Given the description of an element on the screen output the (x, y) to click on. 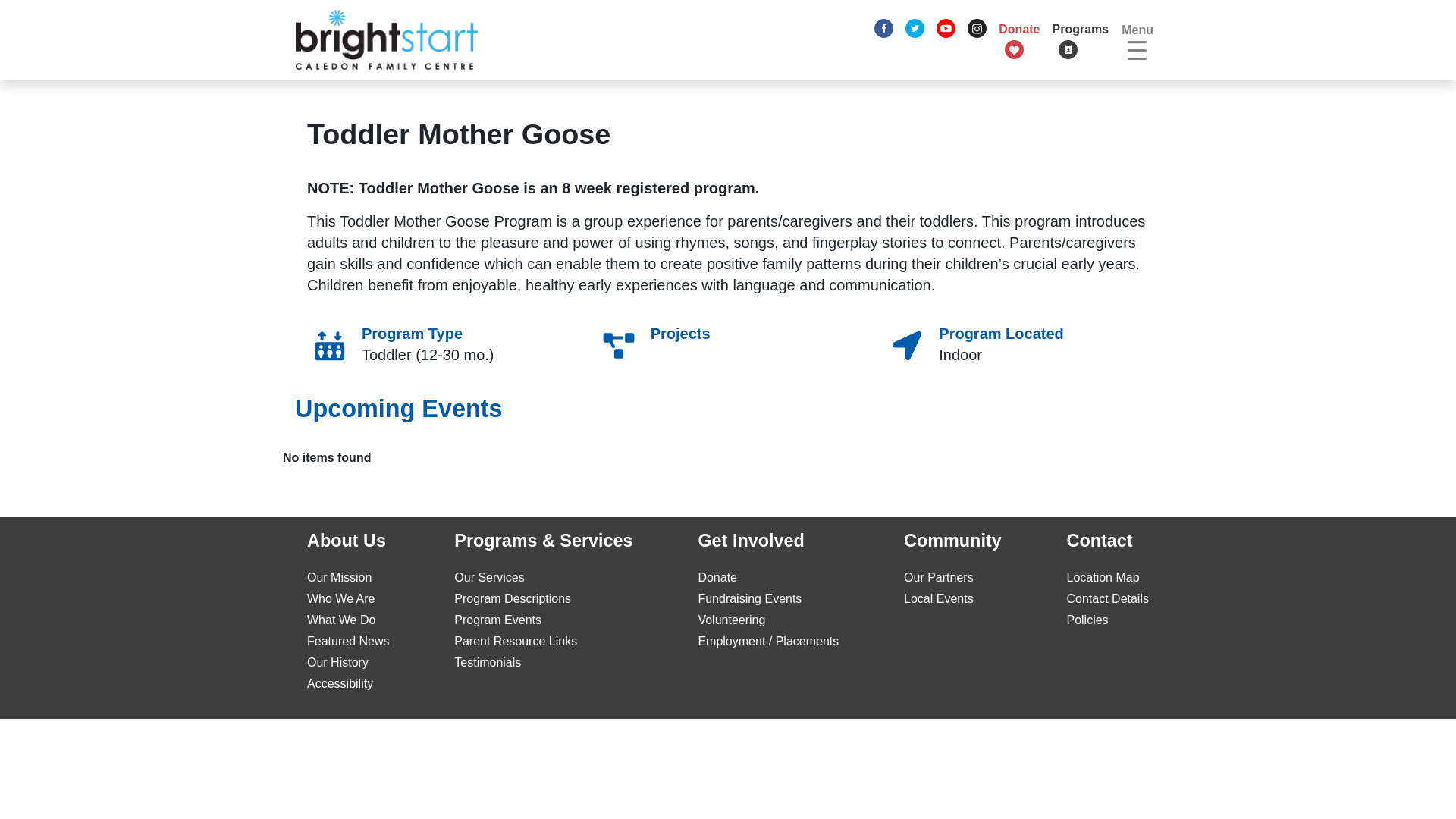
Accessibility (339, 683)
Featured News (348, 640)
YouTube (945, 28)
Programs (1080, 39)
Twitter (914, 28)
Who We Are (341, 598)
Our History (337, 662)
Our Mission (339, 576)
Instagram (976, 28)
Facebook (883, 28)
